Given the description of an element on the screen output the (x, y) to click on. 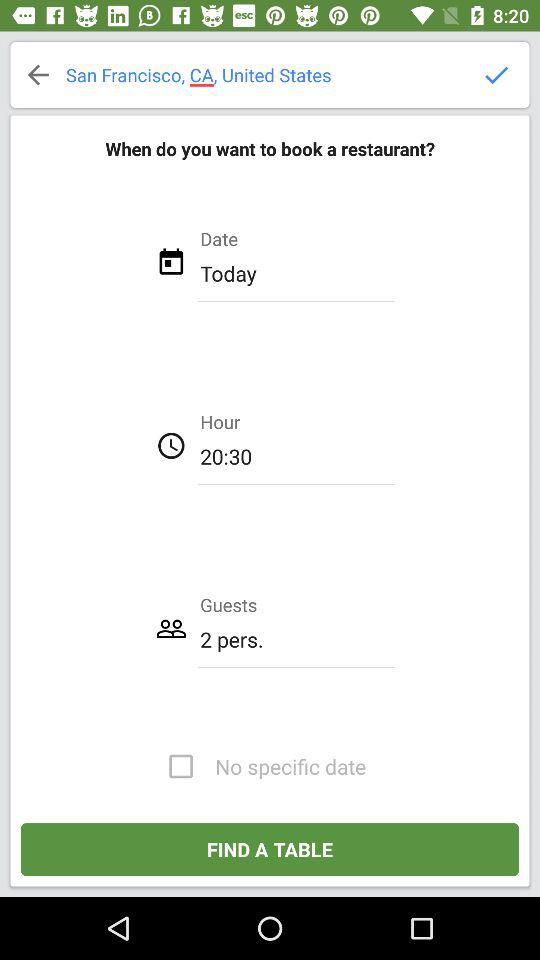
go back (38, 75)
